Given the description of an element on the screen output the (x, y) to click on. 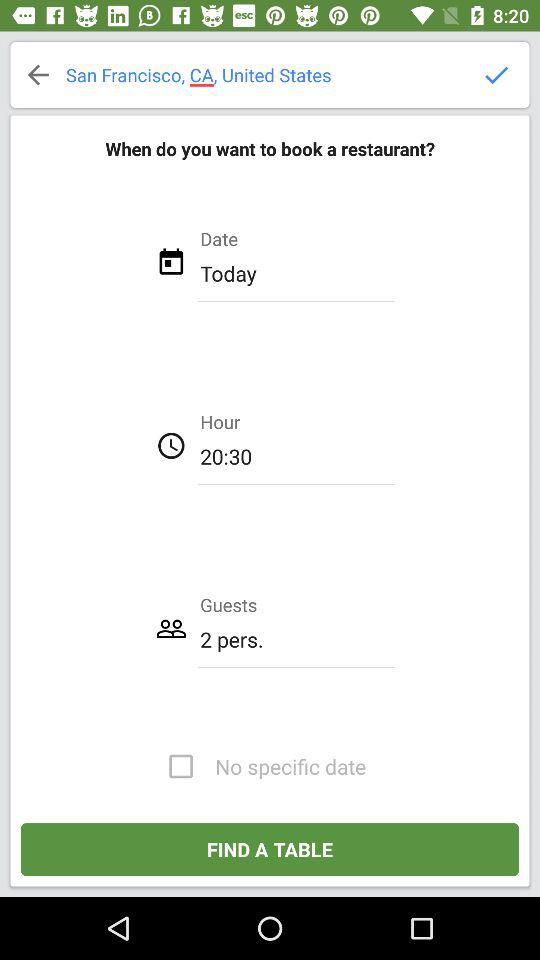
go back (38, 75)
